Given the description of an element on the screen output the (x, y) to click on. 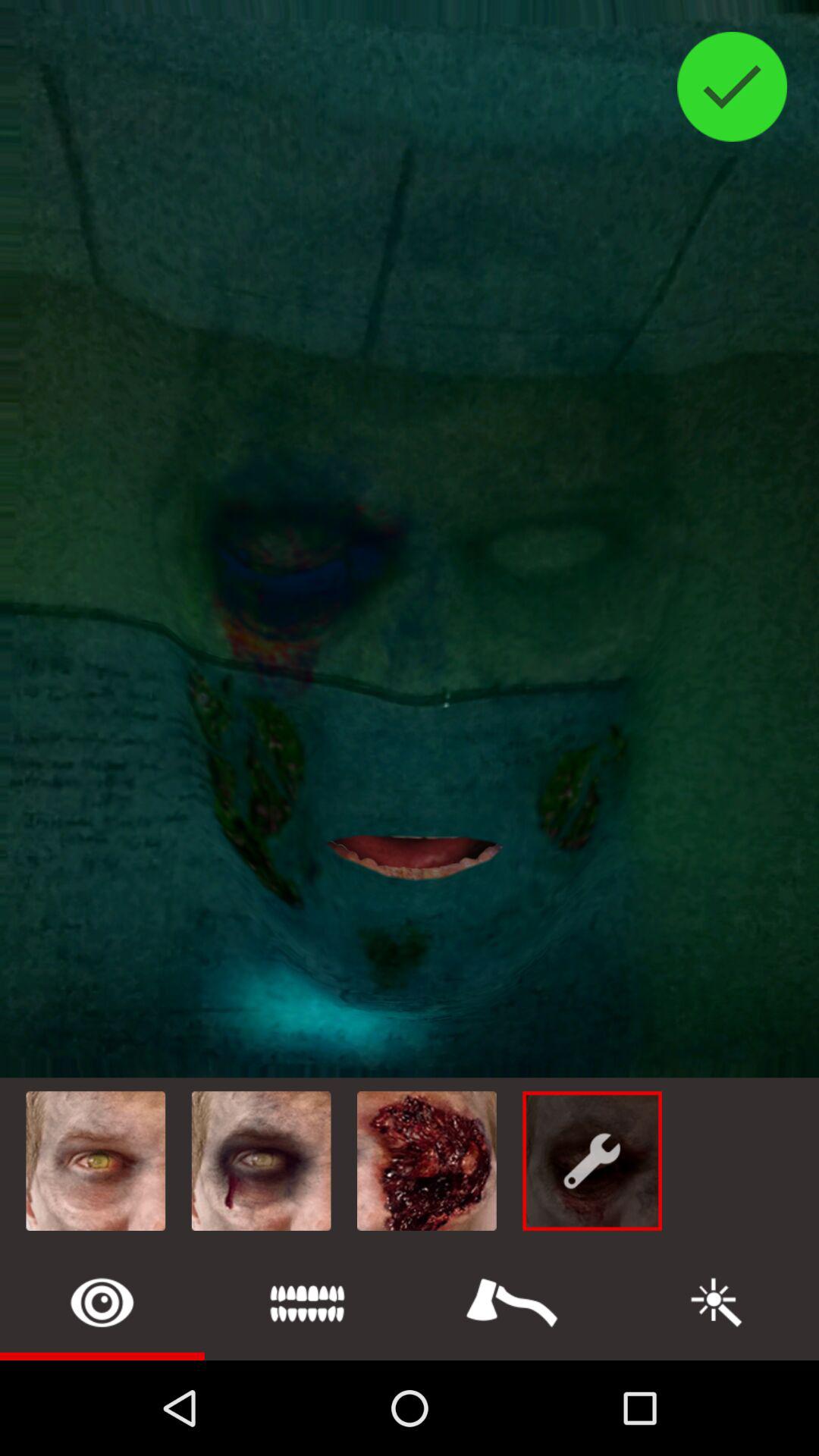
select eye style (102, 1302)
